Given the description of an element on the screen output the (x, y) to click on. 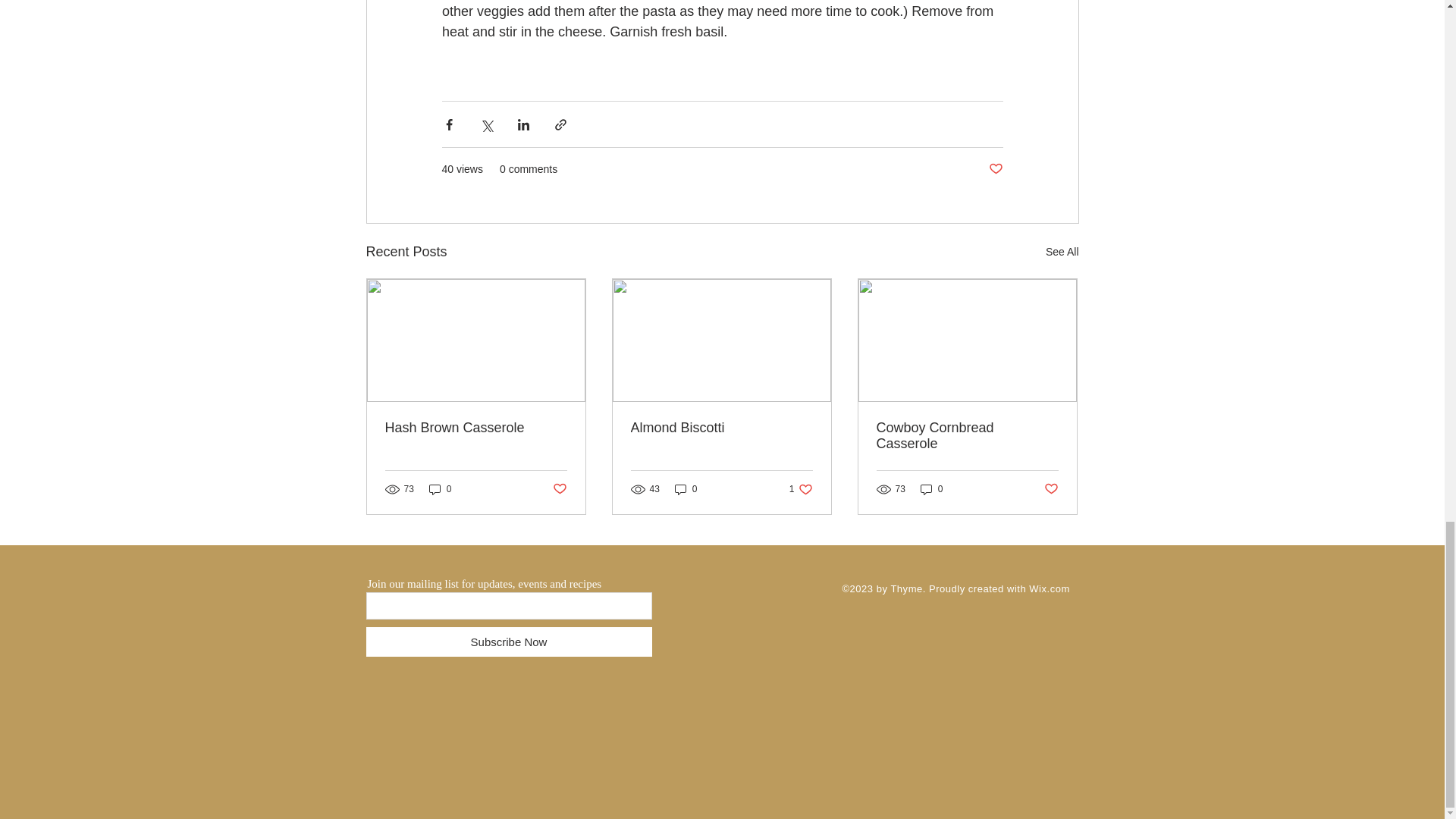
See All (1061, 251)
Cowboy Cornbread Casserole (967, 436)
Post not marked as liked (1050, 489)
0 (800, 488)
Subscribe Now (685, 488)
Post not marked as liked (507, 641)
Post not marked as liked (558, 489)
Almond Biscotti (995, 169)
0 (721, 427)
